Given the description of an element on the screen output the (x, y) to click on. 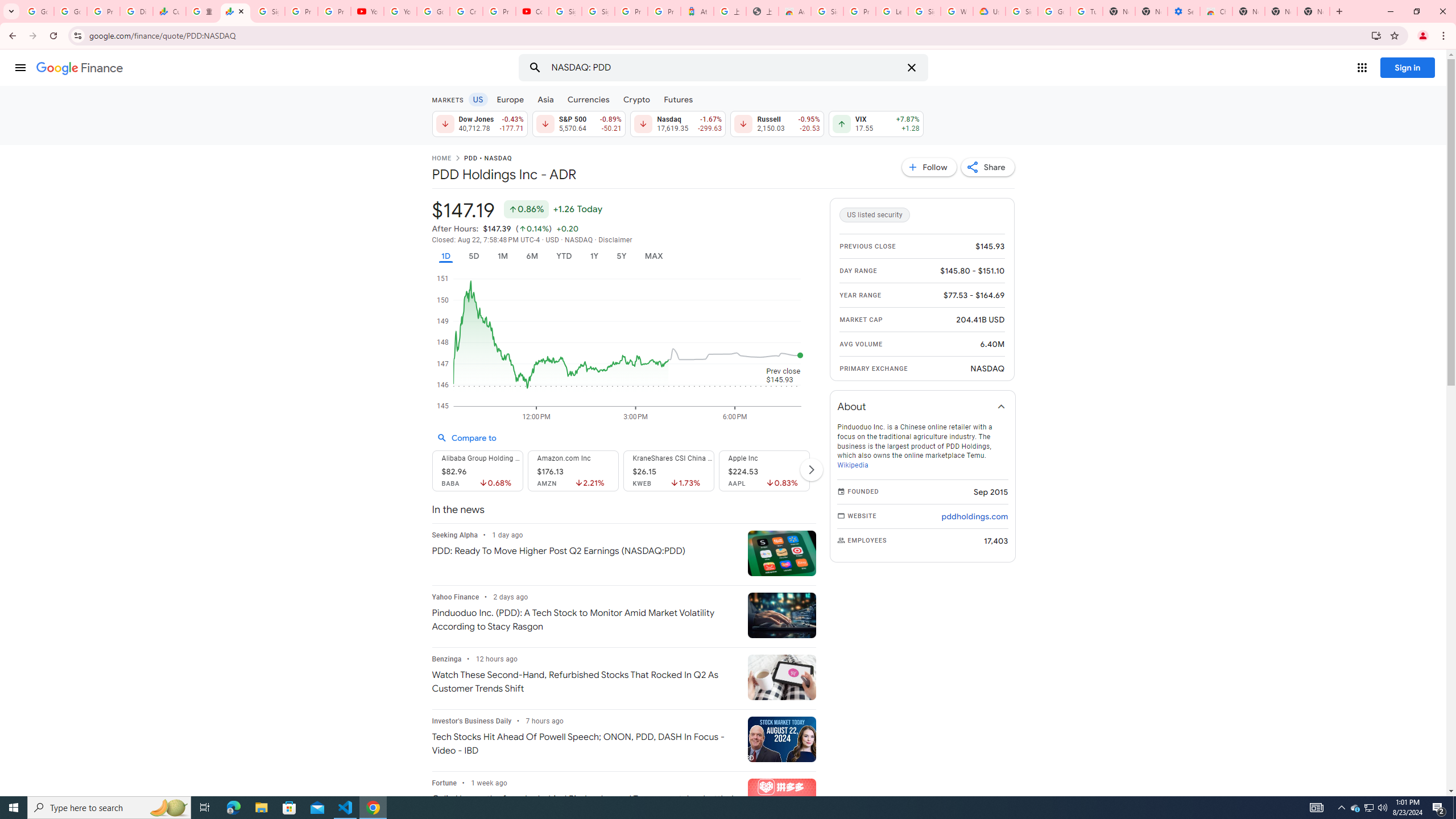
YouTube (367, 11)
Main menu (20, 67)
VIX 17.55 Up by 7.87% +1.28 (875, 123)
1D (445, 255)
1M (501, 255)
Create your Google Account (465, 11)
Nasdaq 17,619.35 Down by 1.67% -299.63 (678, 123)
Install Google Finance (1376, 35)
